Given the description of an element on the screen output the (x, y) to click on. 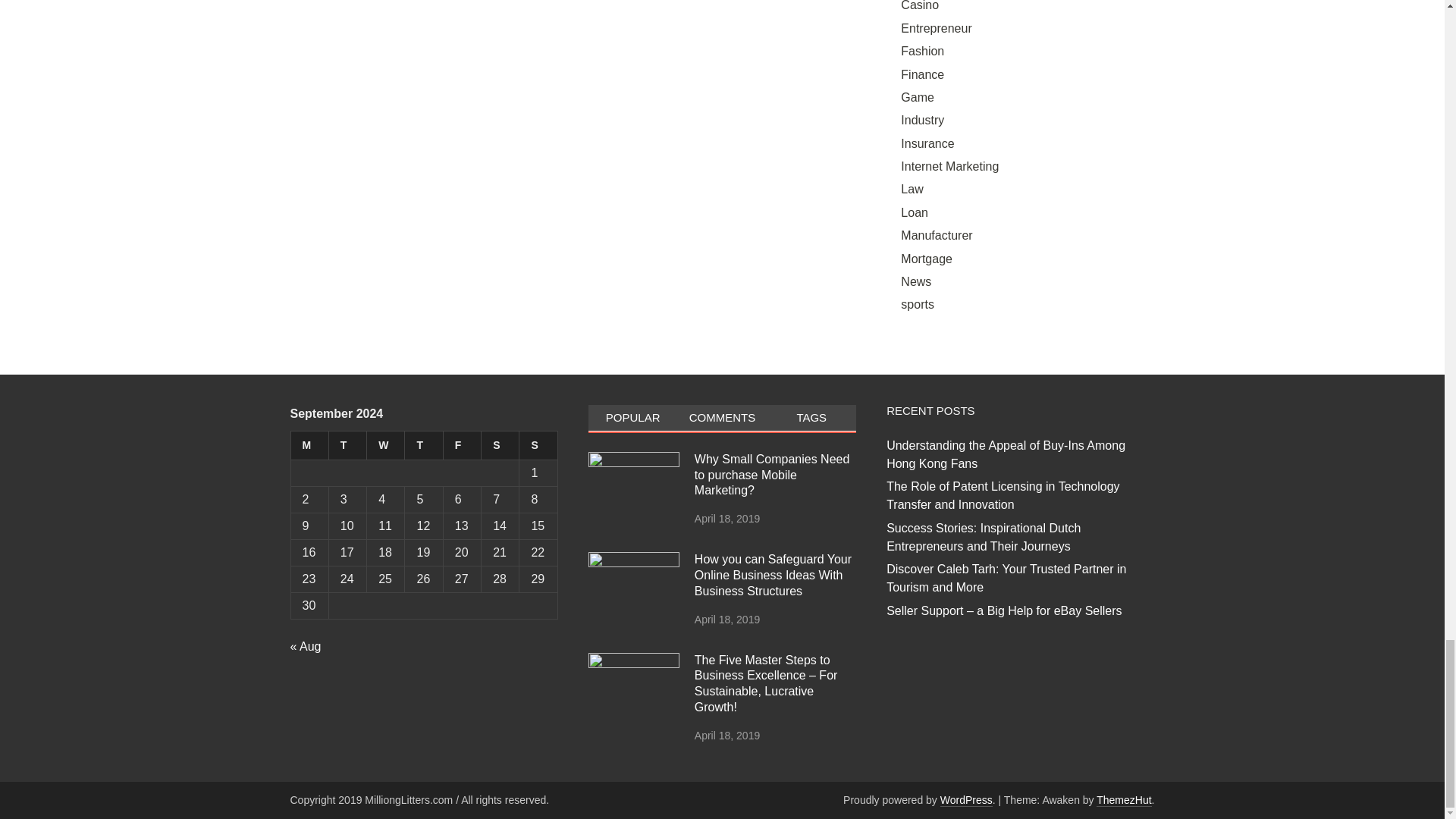
Tuesday (347, 445)
Monday (309, 445)
Wednesday (385, 445)
Friday (461, 445)
Thursday (423, 445)
Sunday (538, 445)
Saturday (500, 445)
